Given the description of an element on the screen output the (x, y) to click on. 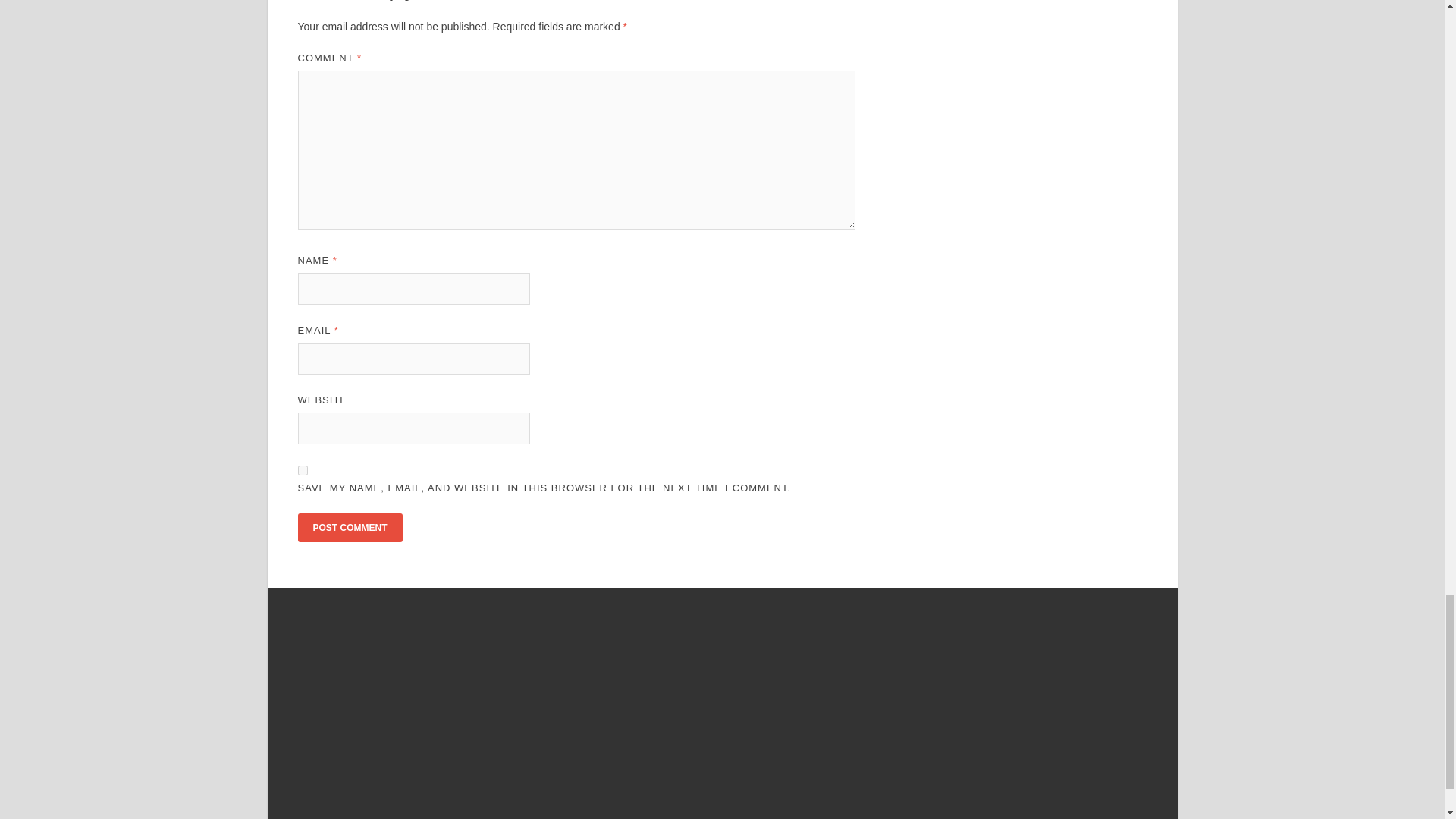
Post Comment (349, 527)
Post Comment (349, 527)
yes (302, 470)
